Given the description of an element on the screen output the (x, y) to click on. 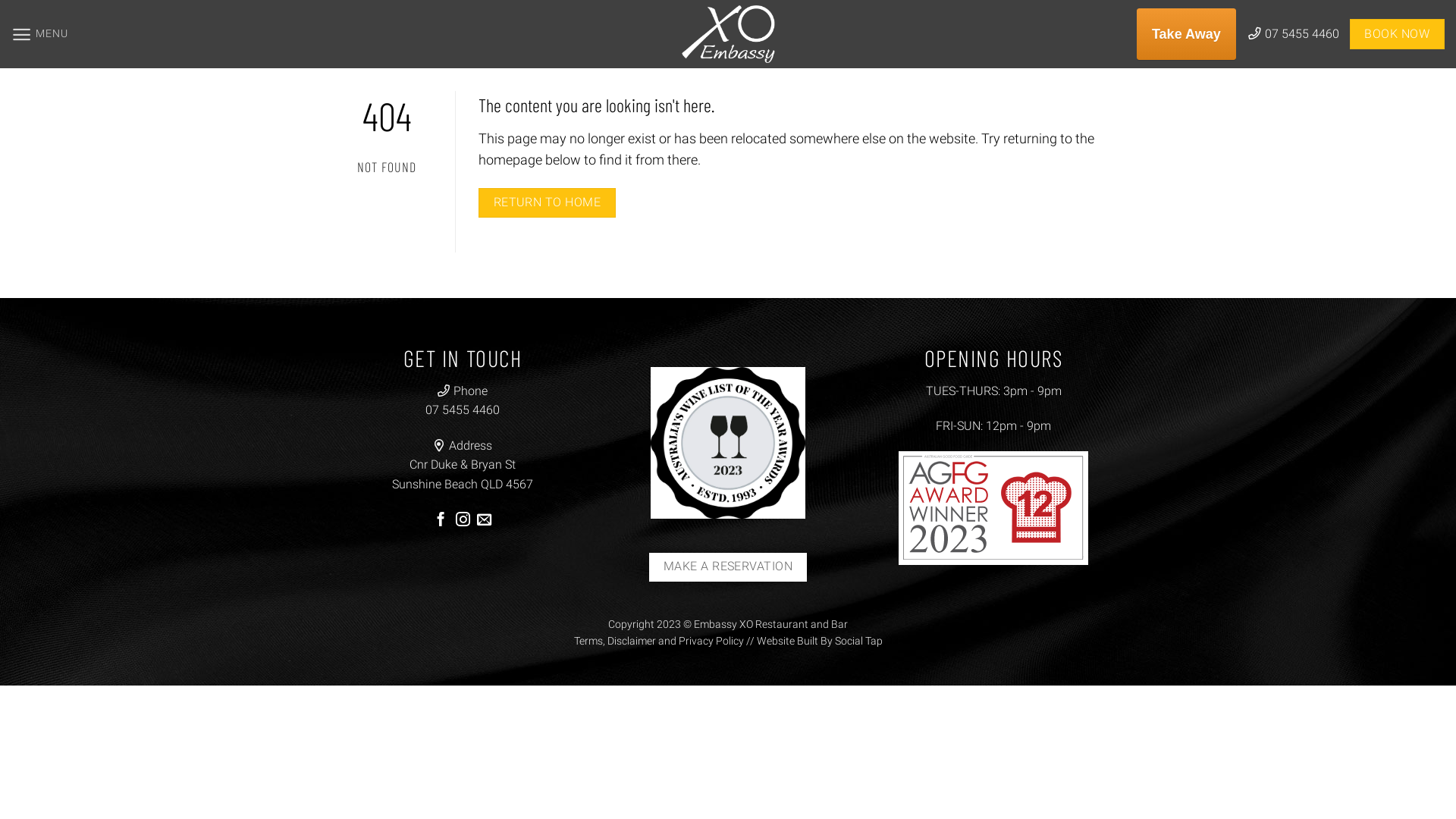
Follow on Facebook Element type: hover (440, 520)
MENU Element type: text (39, 34)
Social Tap Element type: text (857, 640)
07 5455 4460 Element type: text (462, 409)
07 5455 4460 Element type: text (1293, 33)
Skip to content Element type: text (0, 0)
BOOK NOW Element type: text (1396, 33)
Terms, Disclaimer and Privacy Policy Element type: text (658, 640)
MAKE A RESERVATION Element type: text (727, 567)
RETURN TO HOME Element type: text (546, 202)
Send us an email Element type: hover (483, 520)
Follow on Instagram Element type: hover (462, 520)
Cnr Duke & Bryan St
Sunshine Beach QLD 4567 Element type: text (462, 474)
